Given the description of an element on the screen output the (x, y) to click on. 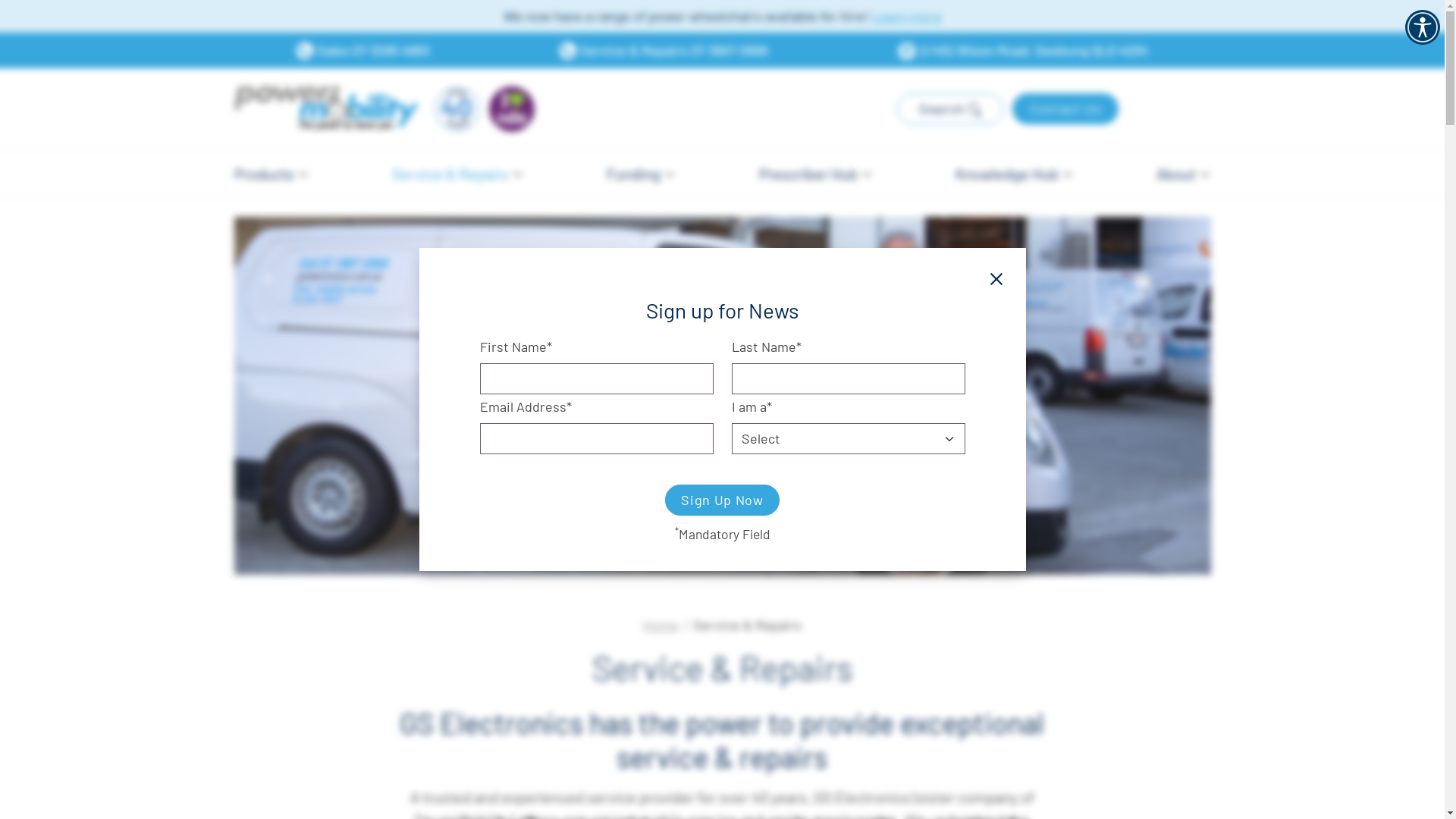
Funding Element type: text (640, 173)
Service & Repairs Element type: text (457, 173)
07 3907 0569 Element type: text (728, 50)
Prescriber Hub Element type: text (815, 173)
Contact Us Element type: text (1065, 108)
Learn more Element type: text (906, 15)
Search Element type: text (950, 108)
Home Element type: text (660, 625)
07 3265 4663 Element type: text (390, 50)
Products Element type: text (270, 173)
Sign Up Now Element type: text (721, 499)
Knowledge Hub Element type: text (1014, 173)
About Element type: text (1183, 173)
